Given the description of an element on the screen output the (x, y) to click on. 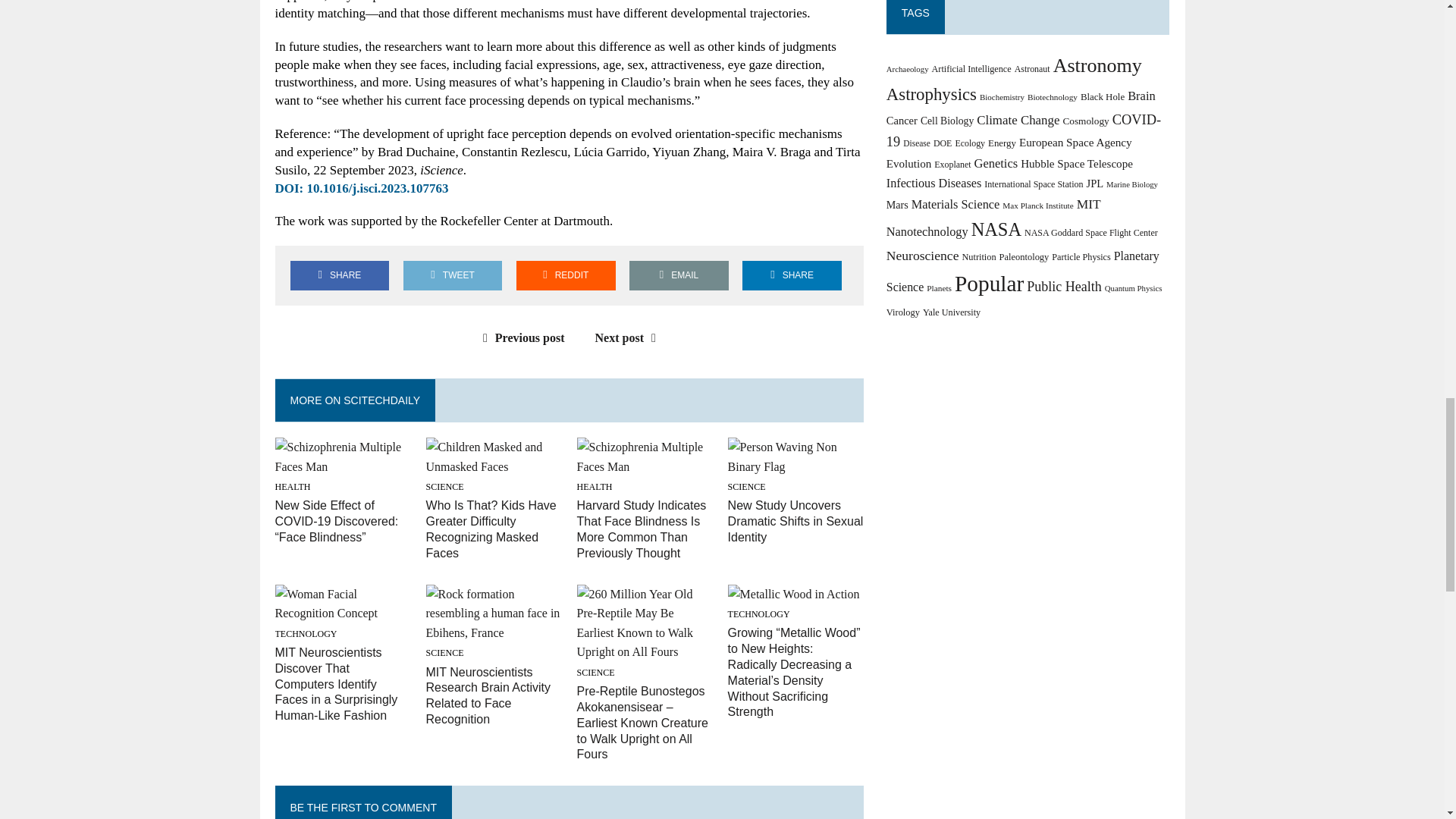
EMAIL (678, 275)
Share on Facebook (338, 275)
Tweet This Article (452, 275)
Next post (629, 337)
Post This Article to Reddit (565, 275)
REDDIT (565, 275)
Previous post (520, 337)
SHARE (791, 275)
TWEET (452, 275)
SHARE (338, 275)
Share on LinkedIn (791, 275)
